Given the description of an element on the screen output the (x, y) to click on. 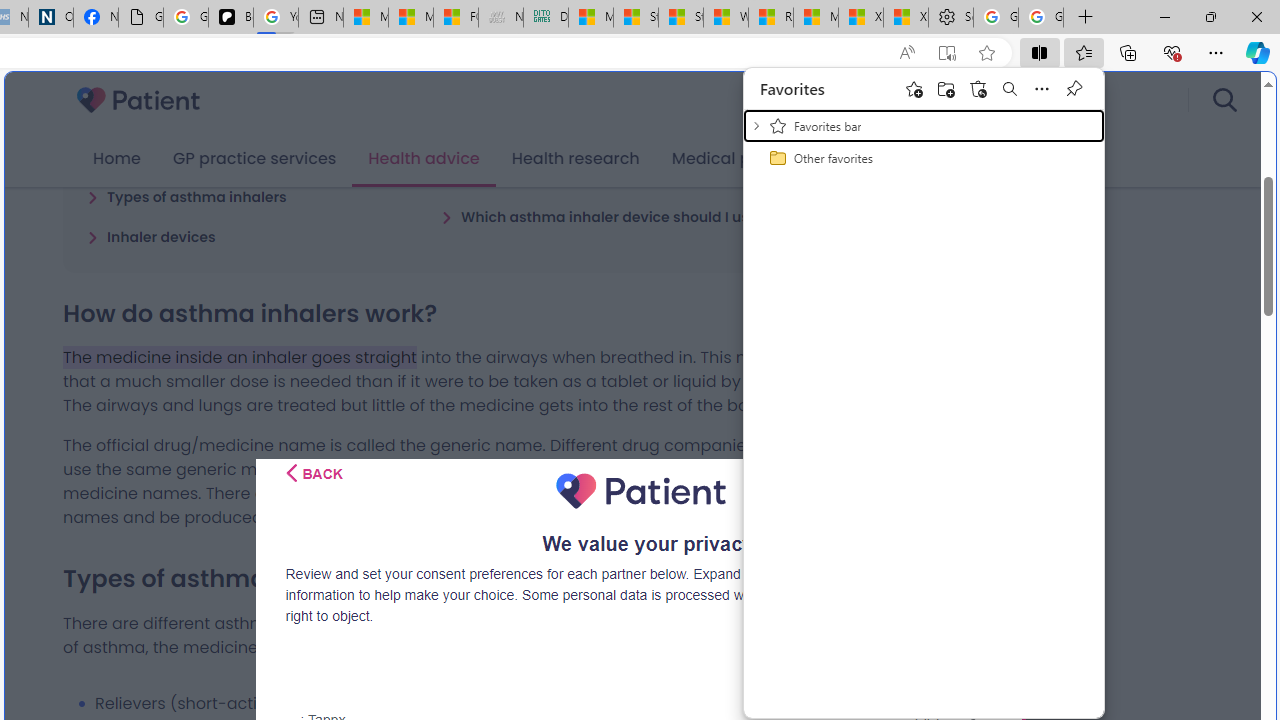
Types of asthma inhalers (186, 196)
Search favorites (1009, 88)
Health research (575, 159)
Health advice (424, 159)
Add folder (945, 88)
Patient 3.0 (138, 100)
Health advice (424, 159)
